Given the description of an element on the screen output the (x, y) to click on. 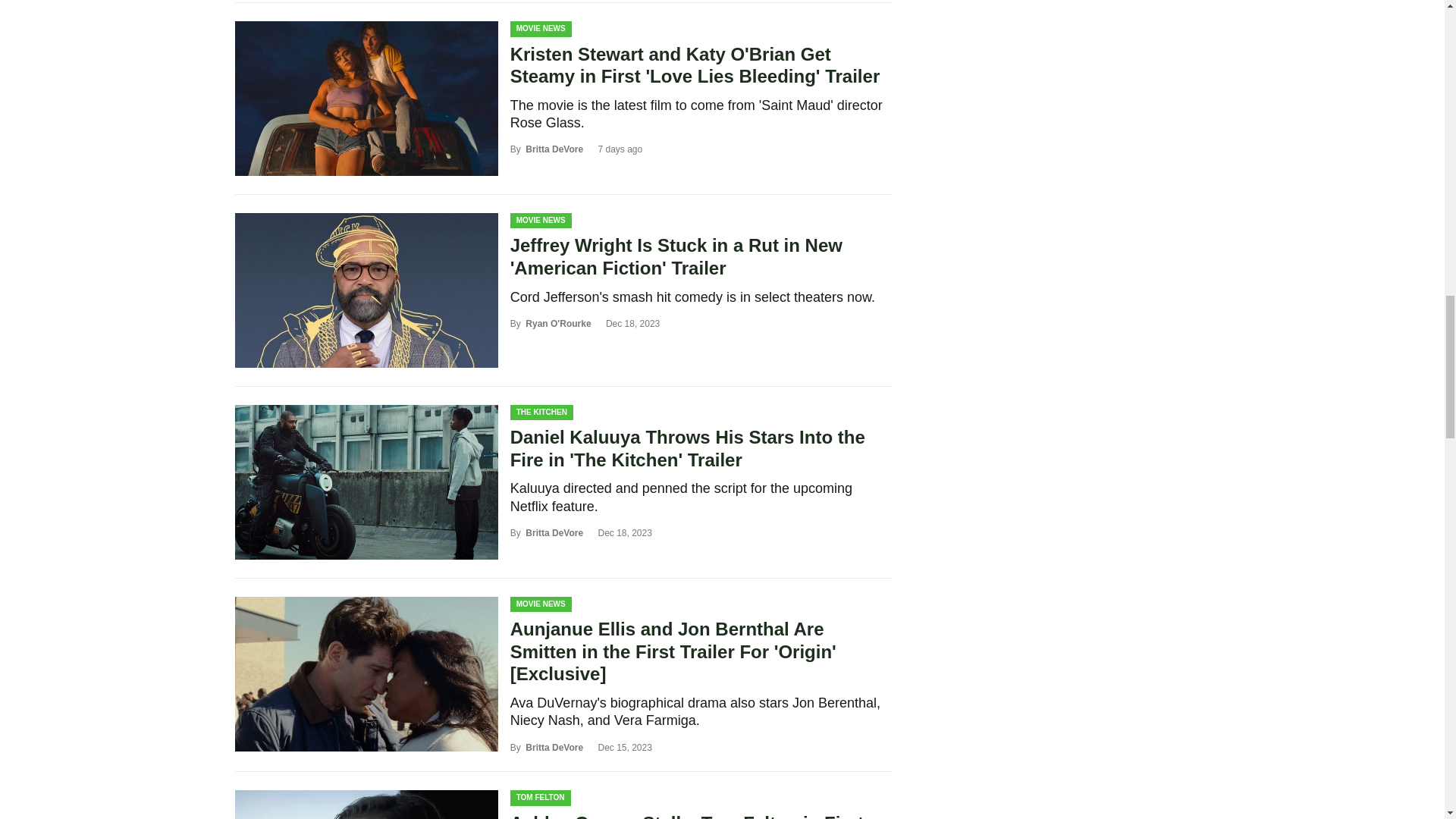
Posts by Britta DeVore (554, 532)
Posts by Britta DeVore (554, 747)
Posts by Britta DeVore (554, 149)
Posts by Ryan O'Rourke (558, 323)
